Given the description of an element on the screen output the (x, y) to click on. 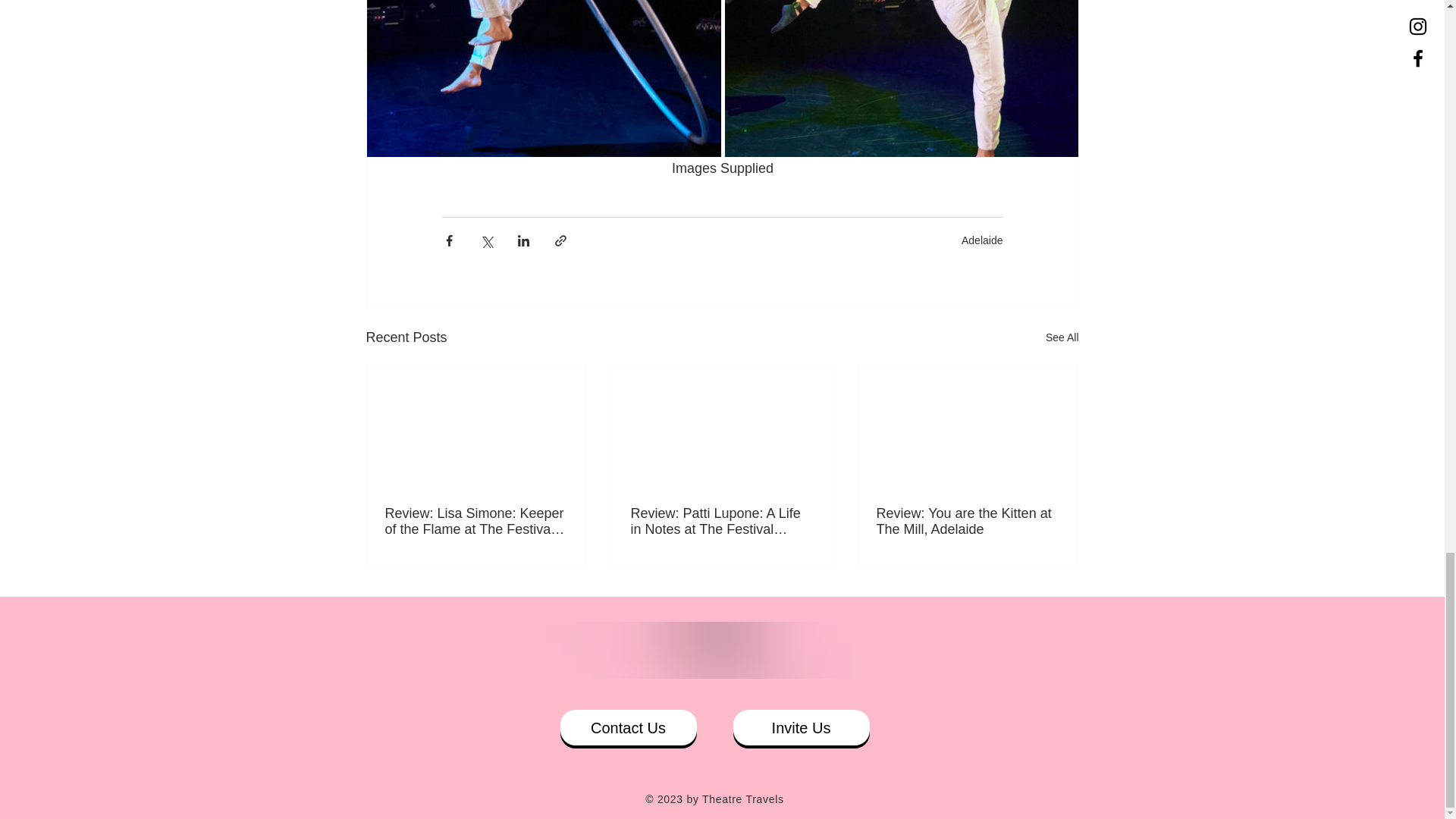
See All (1061, 337)
Adelaide (981, 239)
Invite Us (800, 727)
Review: You are the Kitten at The Mill, Adelaide  (967, 521)
Contact Us (627, 727)
